Given the description of an element on the screen output the (x, y) to click on. 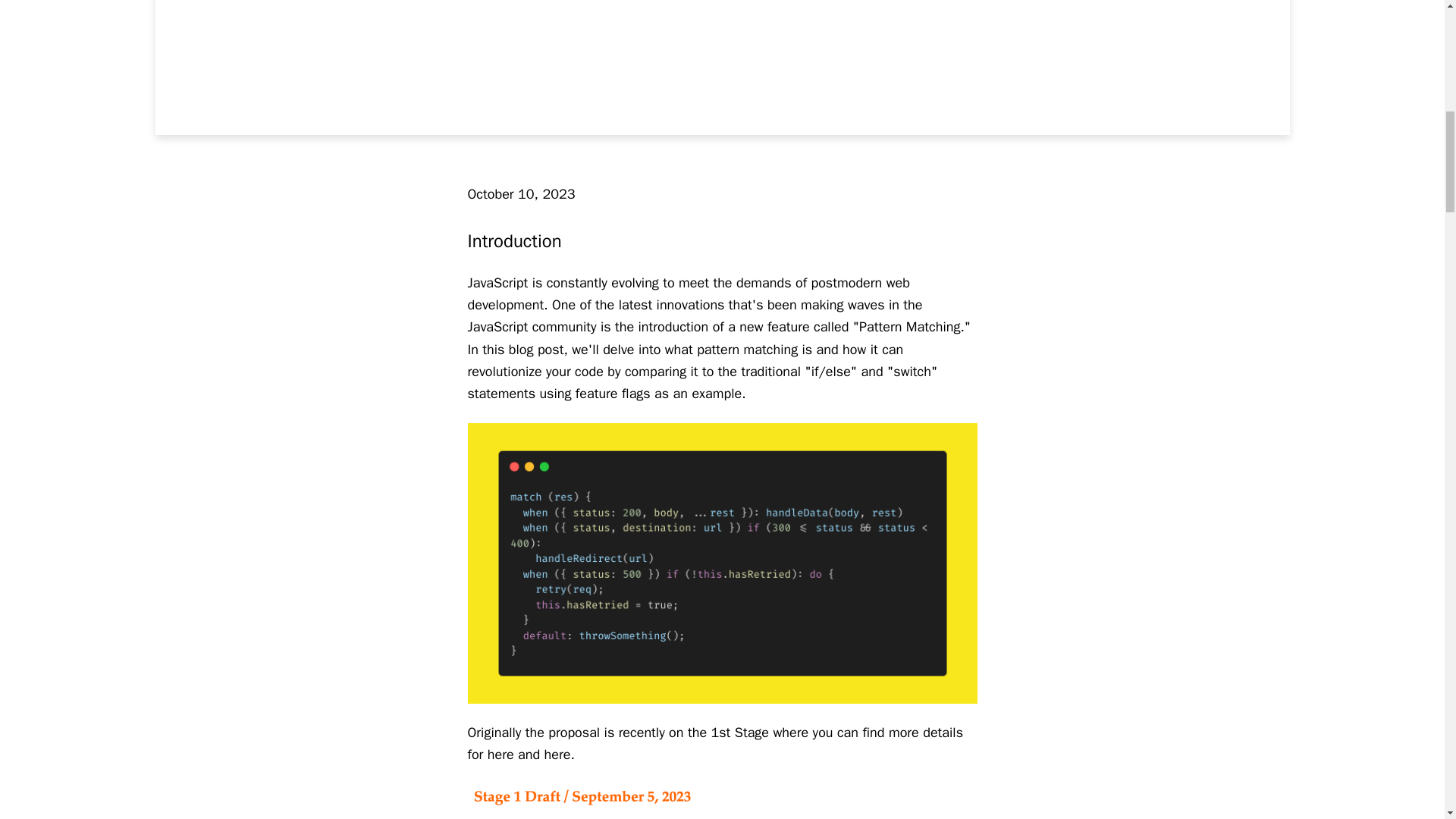
here (557, 754)
here (500, 754)
